Given the description of an element on the screen output the (x, y) to click on. 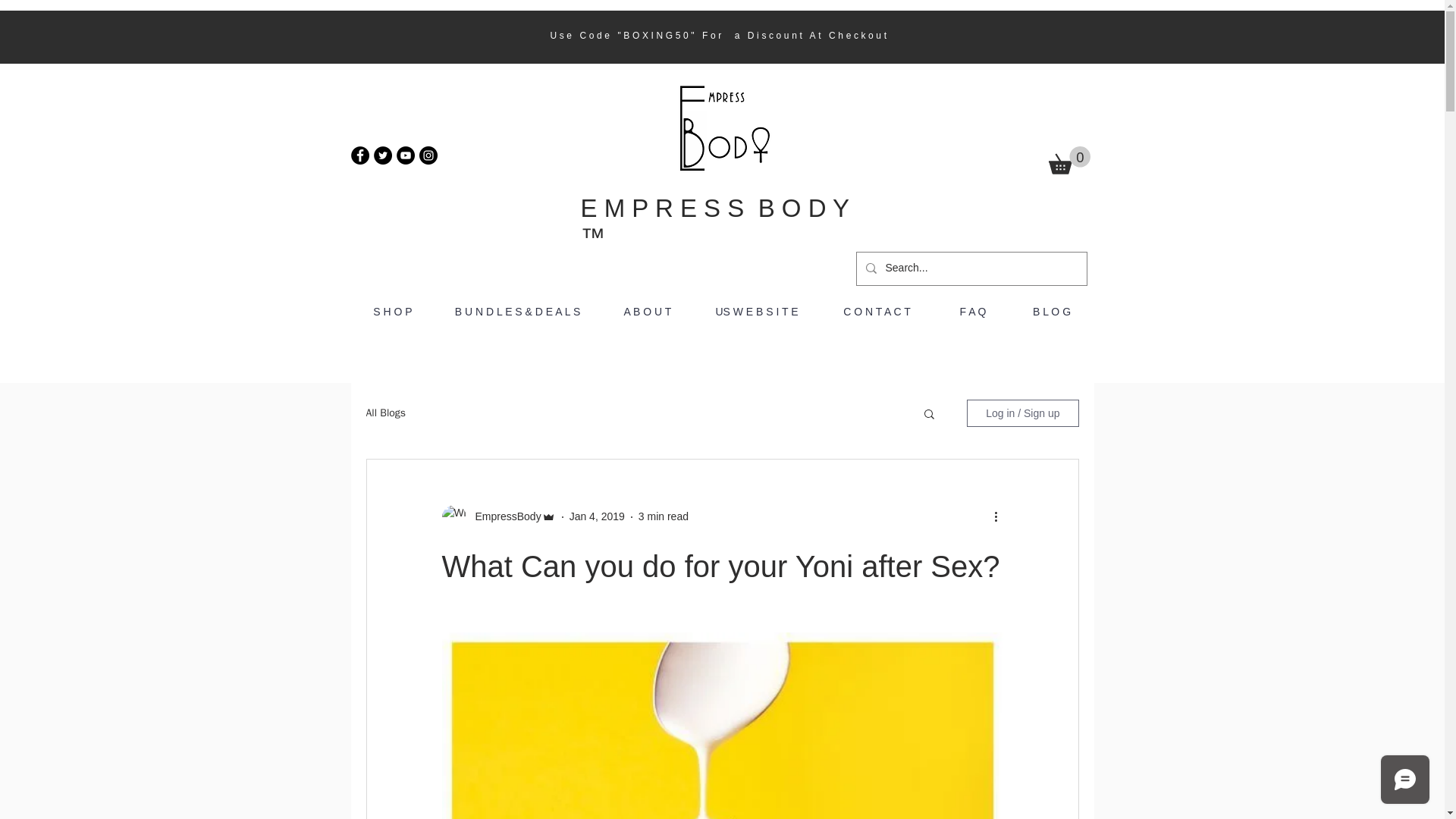
Jan 4, 2019 (596, 516)
EmpressBody  (502, 516)
B L O G (1051, 312)
S H O P (391, 312)
F A Q (973, 312)
C O N T A C T (877, 312)
3 min read (663, 516)
US W E B S I T E (756, 312)
0 (1068, 160)
A B O U T (647, 312)
All Blogs (385, 413)
0 (1068, 160)
